Given the description of an element on the screen output the (x, y) to click on. 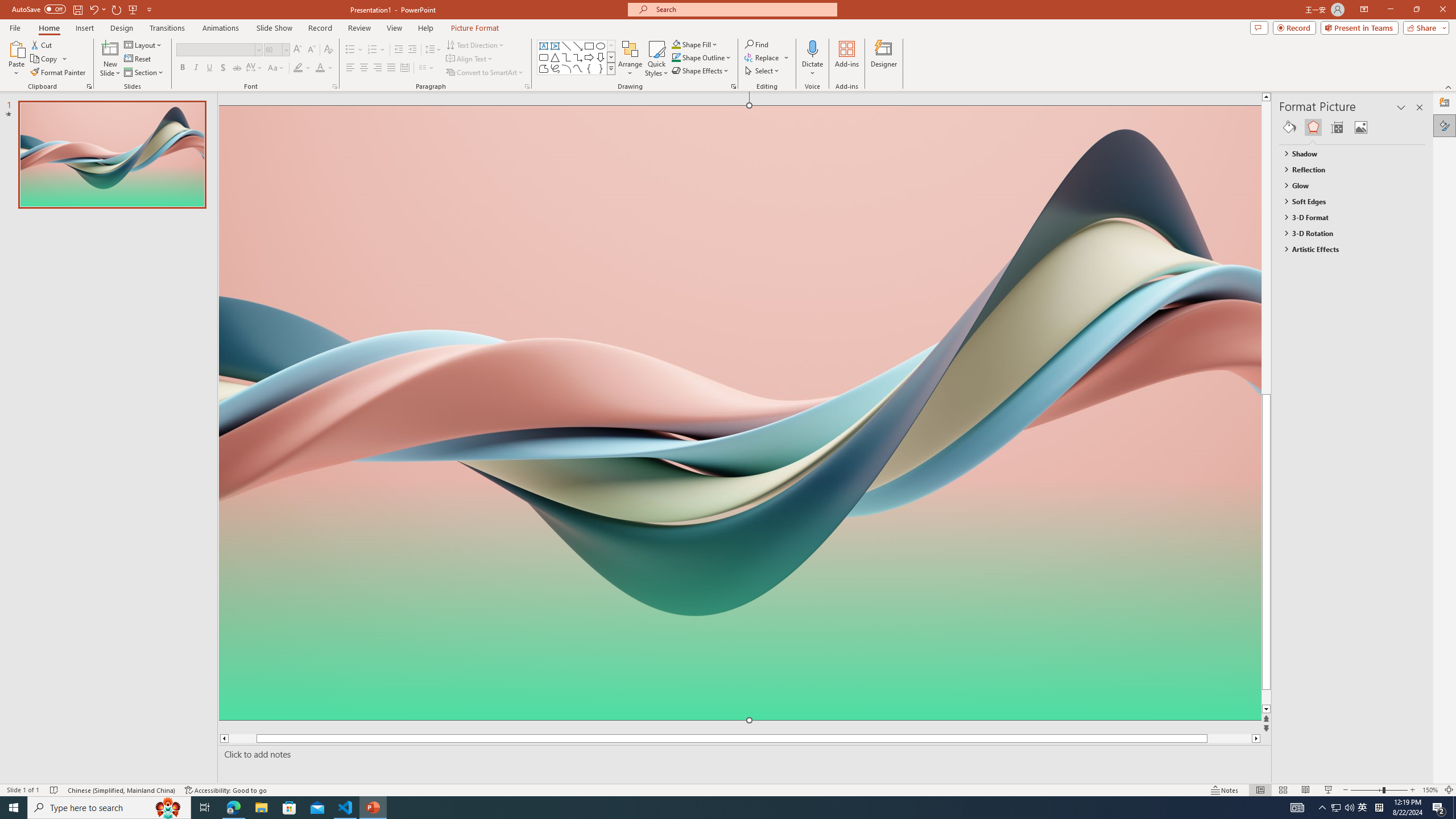
Decorative Locked (739, 579)
